Given the description of an element on the screen output the (x, y) to click on. 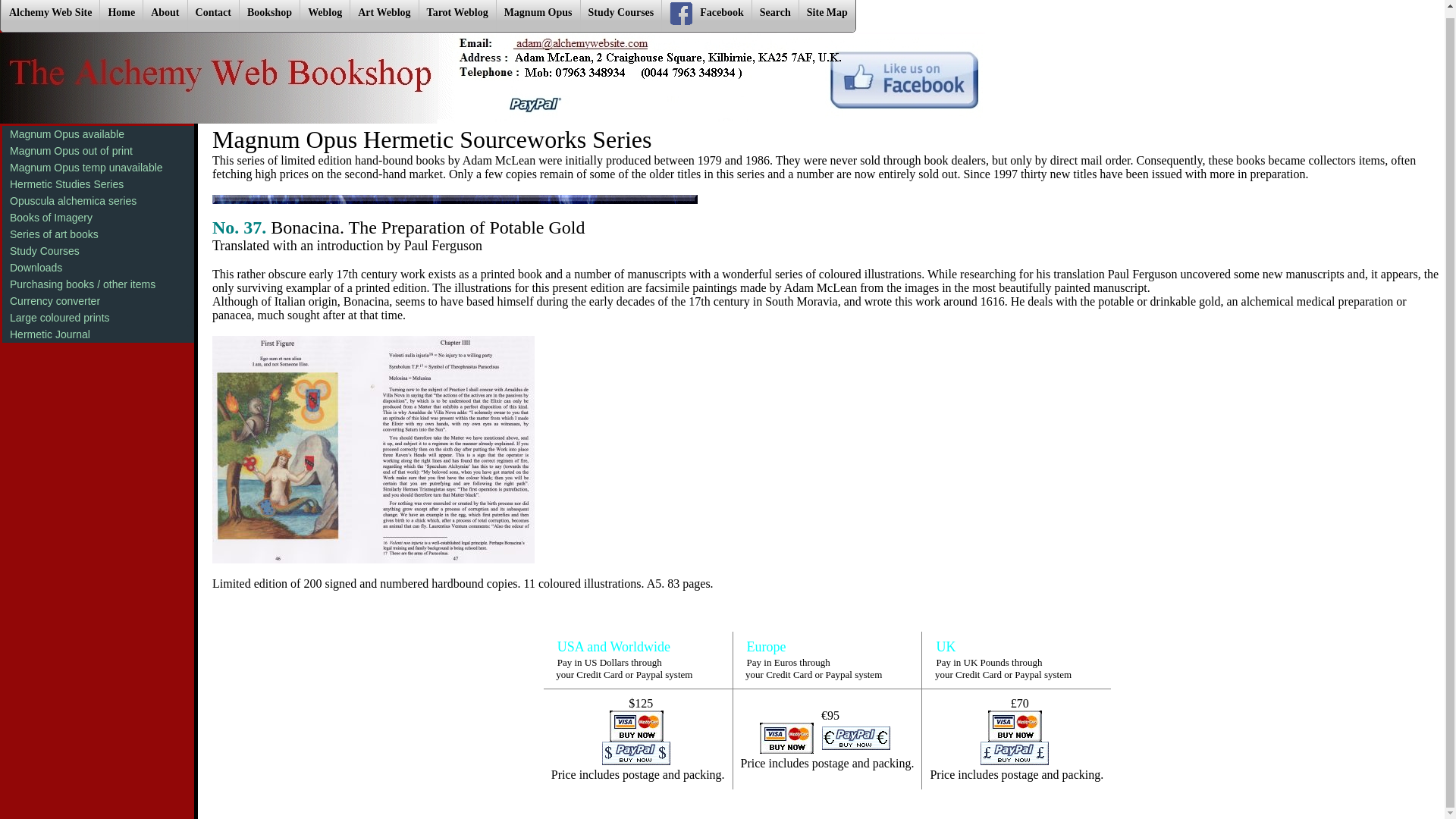
Site Map (826, 15)
Magnum Opus available (97, 134)
Facebook (706, 15)
Weblog (324, 15)
Search (774, 15)
Study Courses (620, 15)
Home (120, 15)
Magnum Opus (537, 15)
About (164, 15)
Contact (212, 15)
Art Weblog (383, 15)
Tarot Weblog (457, 15)
Bookshop (268, 15)
Alchemy Web Site (50, 15)
